Given the description of an element on the screen output the (x, y) to click on. 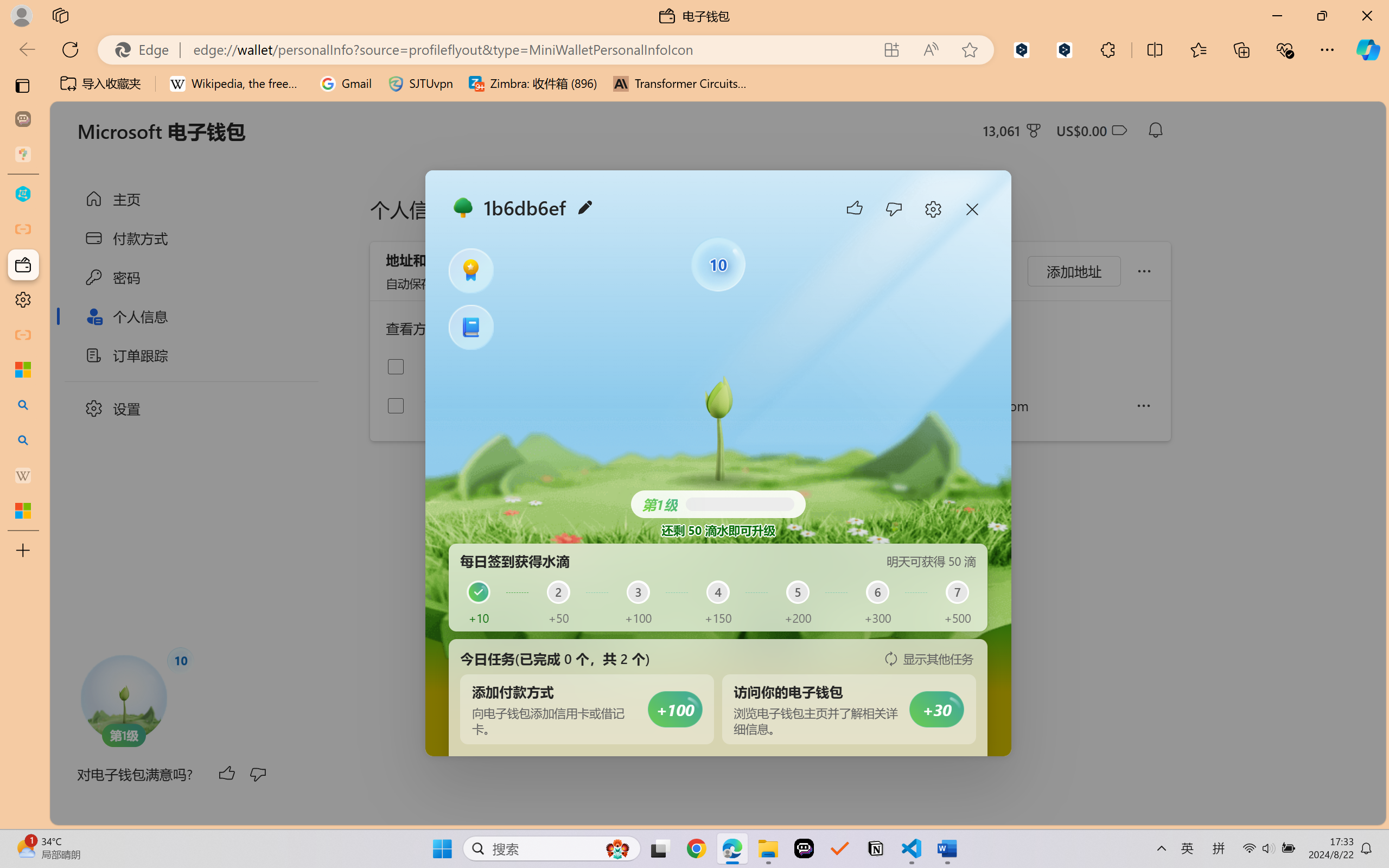
Gmail (345, 83)
644553698@qq.com (1011, 405)
Copilot (Ctrl+Shift+.) (1368, 49)
Microsoft Cashback - US$0.00 (1090, 129)
